Given the description of an element on the screen output the (x, y) to click on. 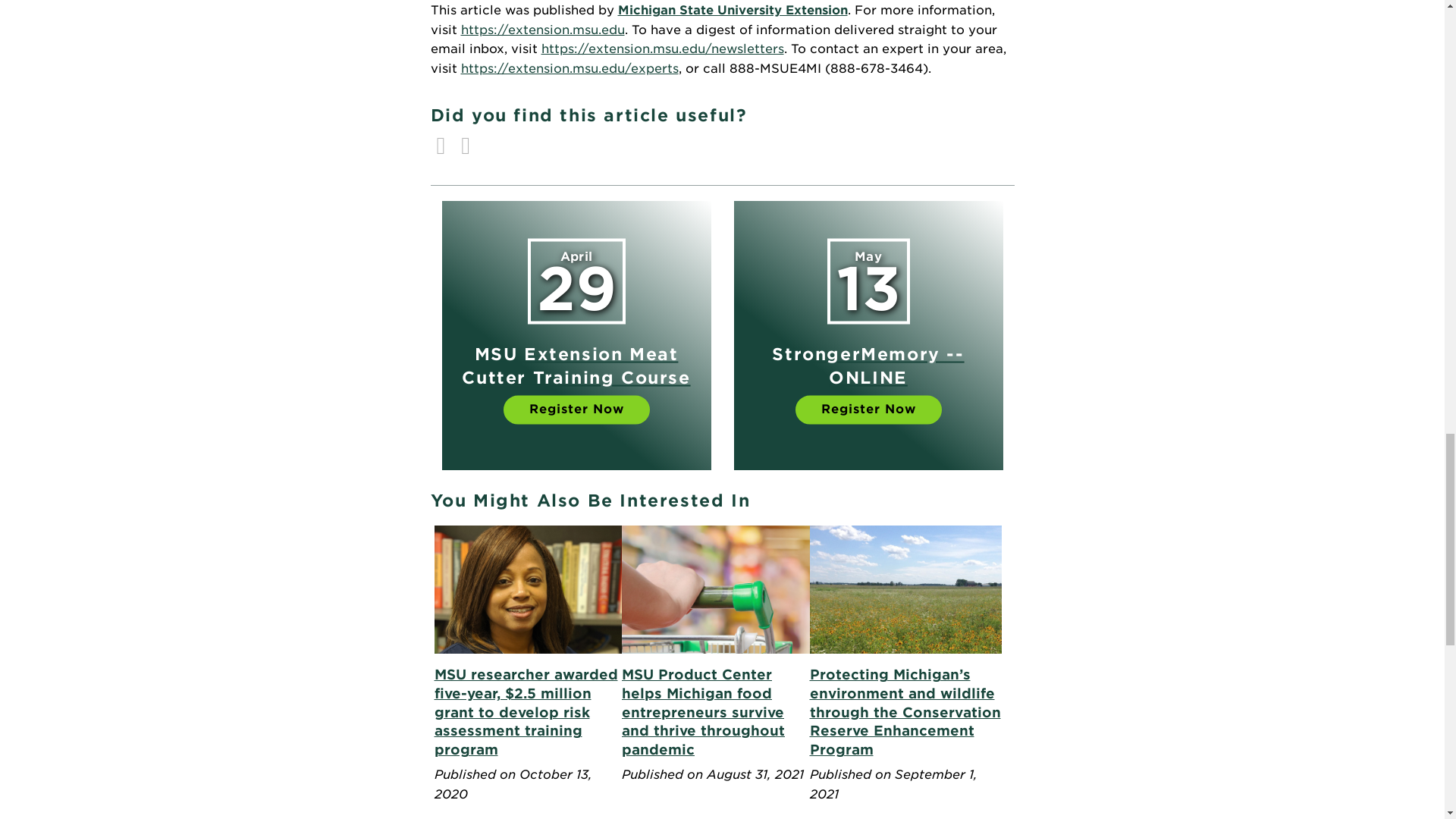
Michigan State University Extension (732, 10)
Michigan State University Extension (732, 10)
